Given the description of an element on the screen output the (x, y) to click on. 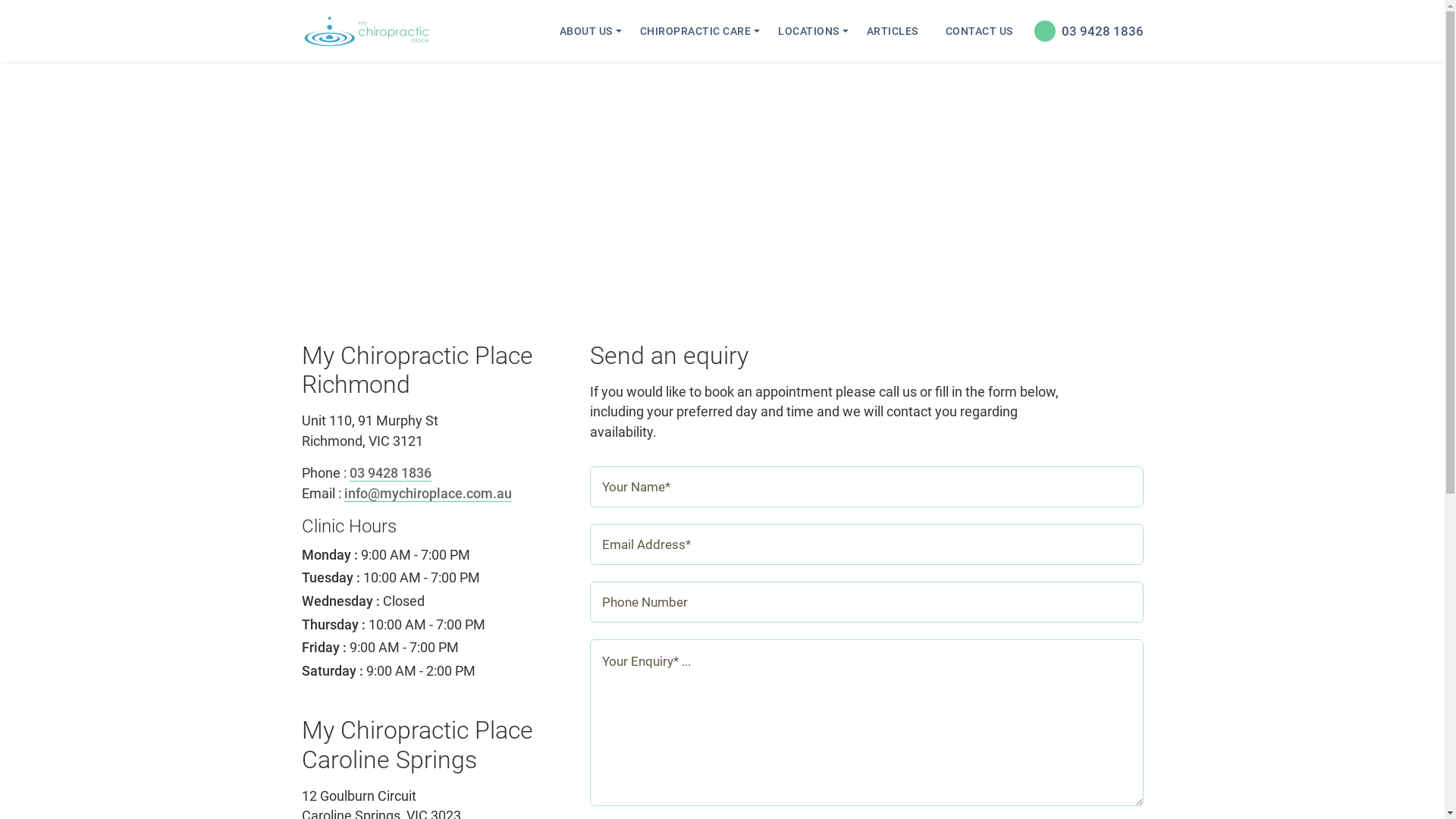
CONTACT US Element type: text (978, 30)
info@mychiroplace.com.au Element type: text (427, 494)
ARTICLES Element type: text (891, 30)
CHIROPRACTIC CARE Element type: text (695, 30)
ABOUT US Element type: text (585, 30)
LOCATIONS Element type: text (808, 30)
03 9428 1836 Element type: text (389, 473)
03 9428 1836 Element type: text (1084, 30)
